Given the description of an element on the screen output the (x, y) to click on. 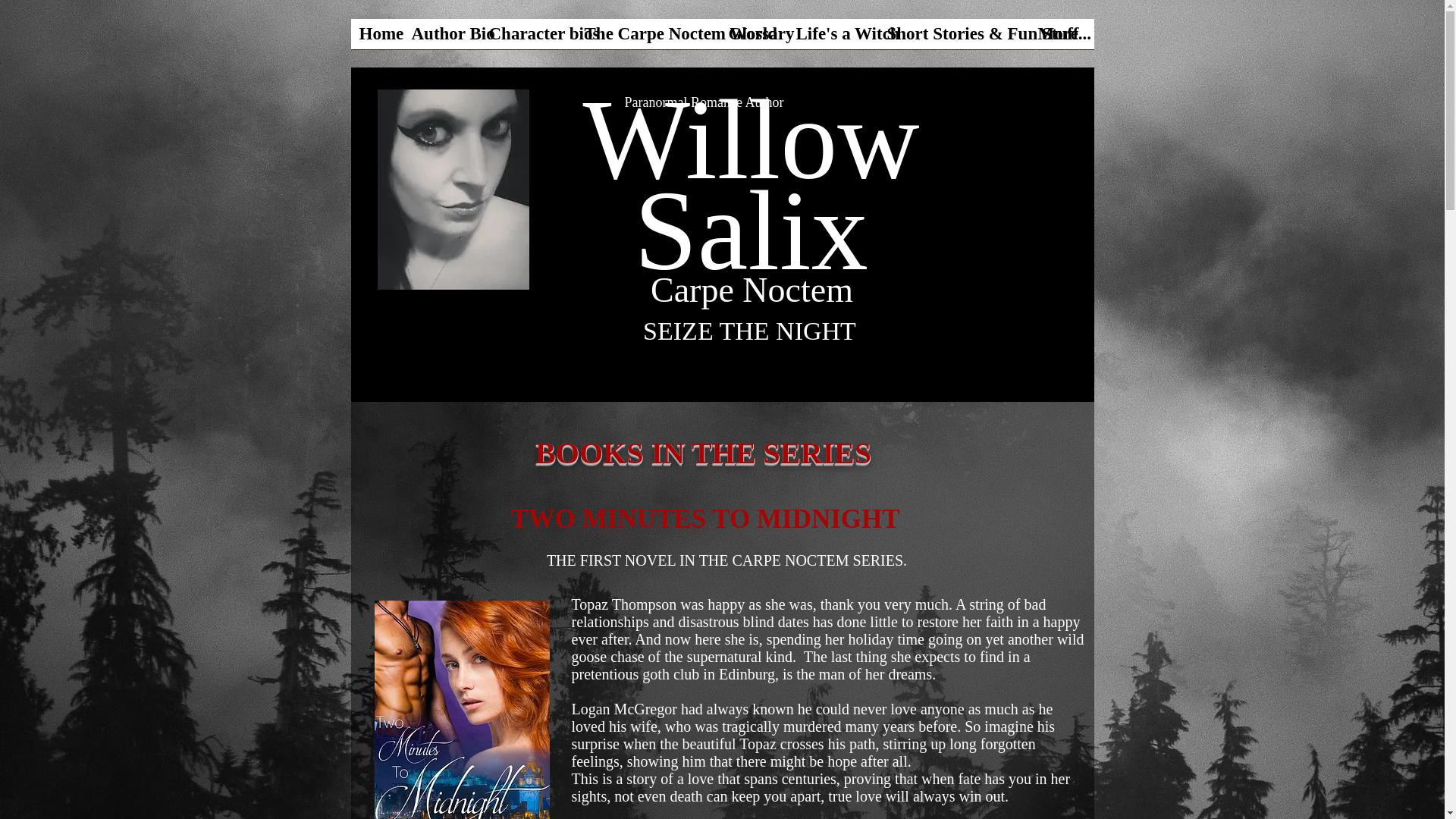
Character bios (528, 38)
Home (376, 38)
Author Bio (441, 38)
